Given the description of an element on the screen output the (x, y) to click on. 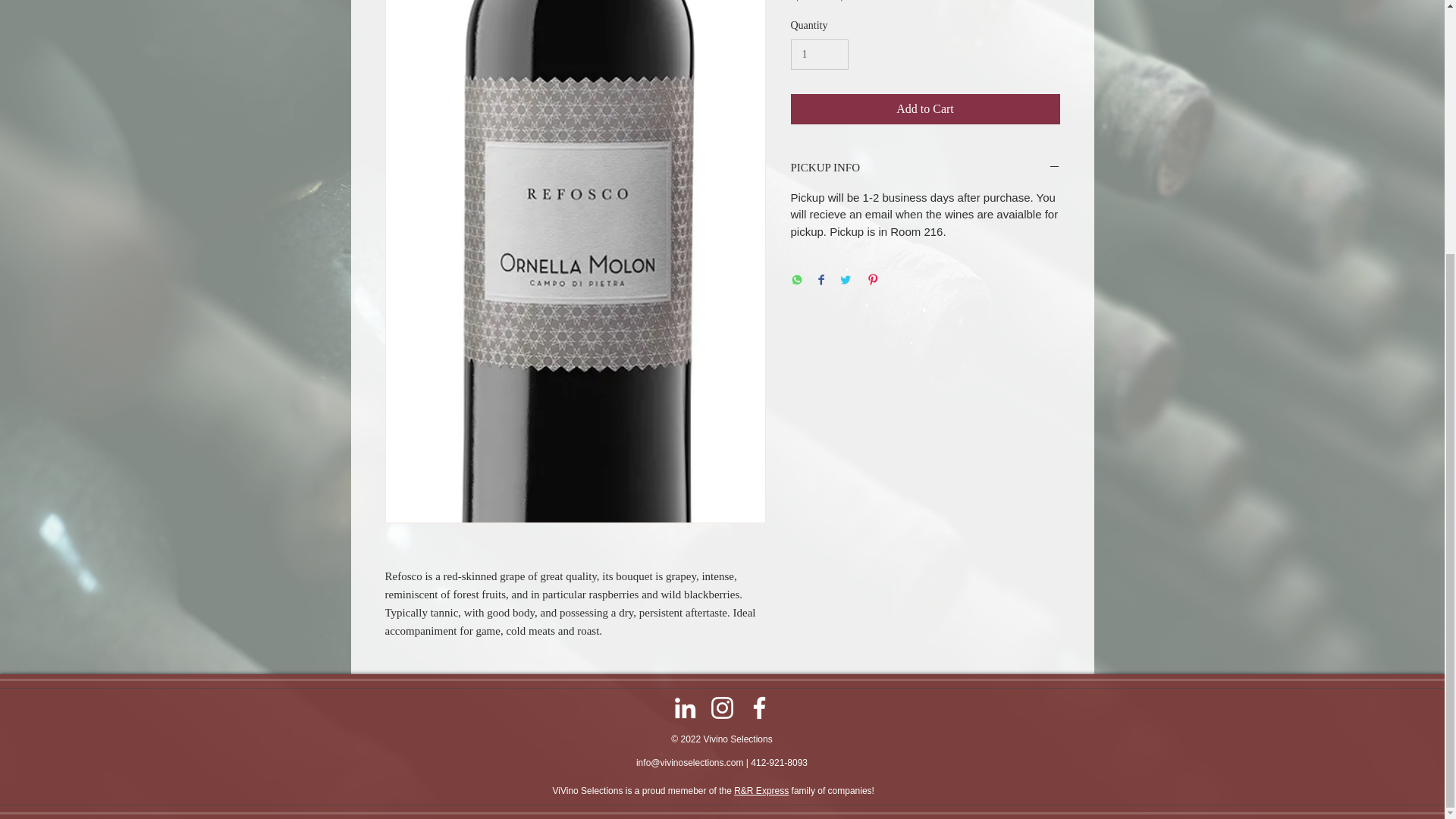
1 (818, 54)
Add to Cart (924, 109)
PICKUP INFO (924, 168)
